Given the description of an element on the screen output the (x, y) to click on. 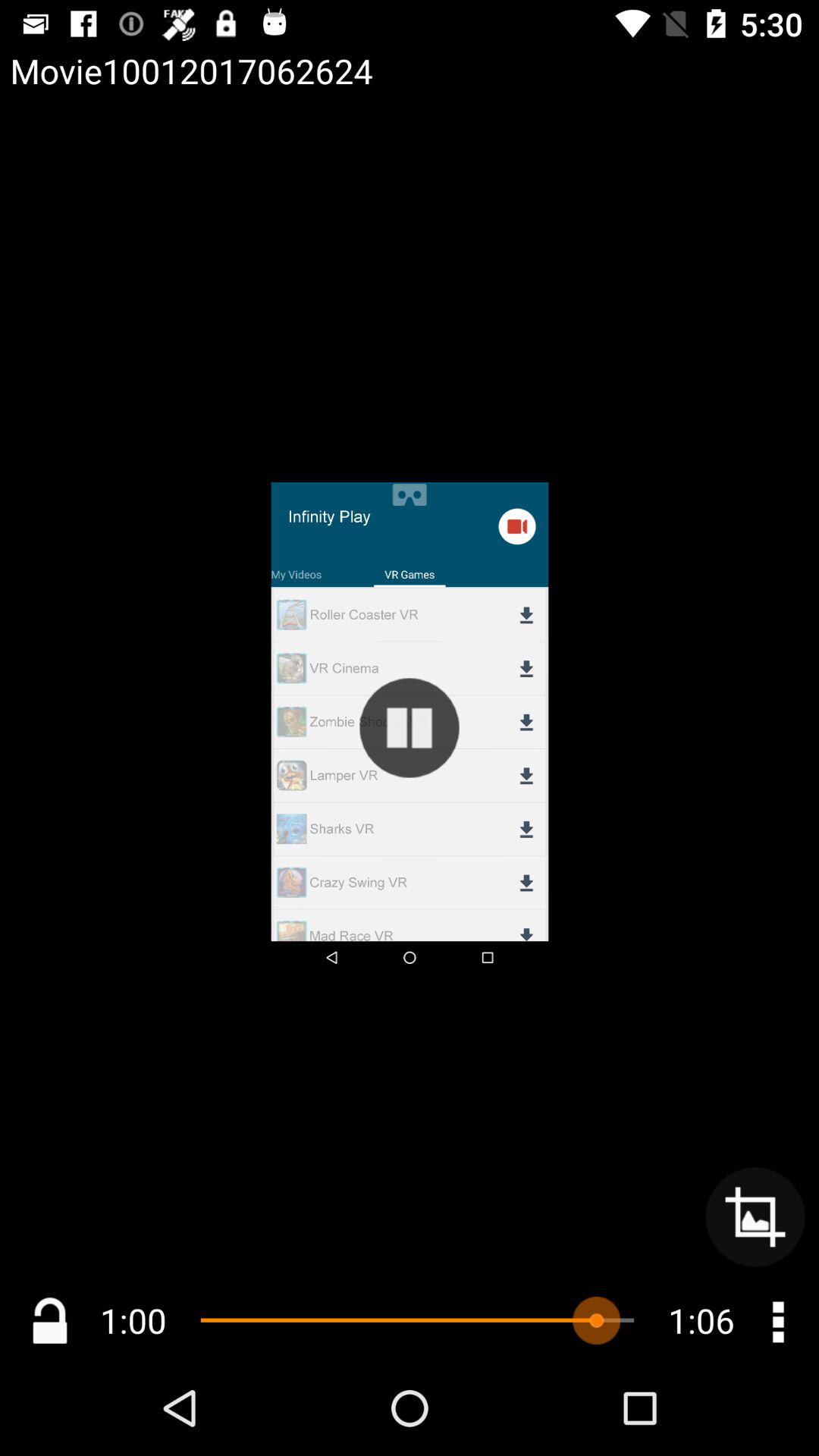
this is button to pause the video (409, 727)
